Given the description of an element on the screen output the (x, y) to click on. 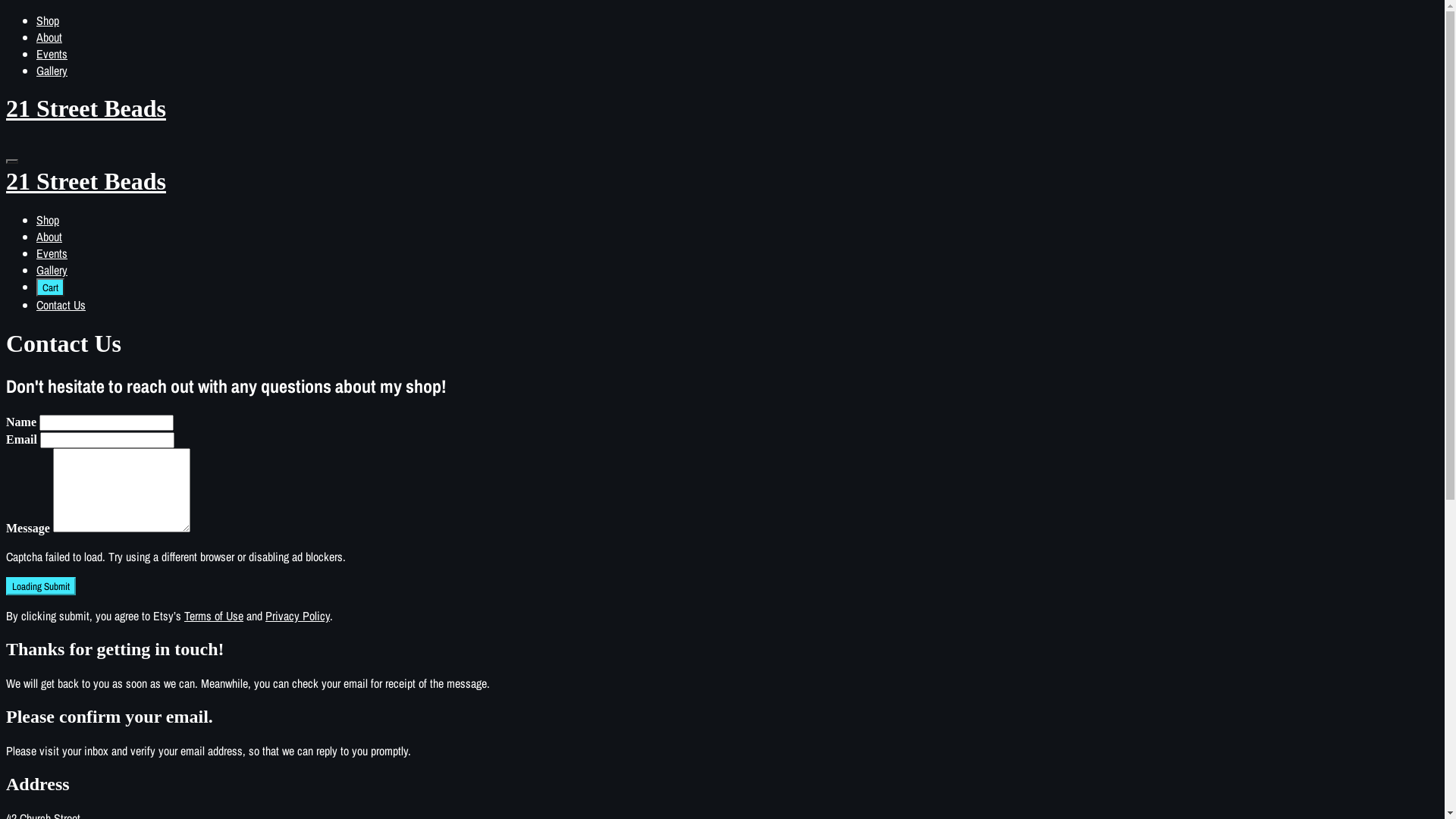
Events Element type: text (51, 252)
Terms of Use Element type: text (213, 615)
Loading Submit Element type: text (40, 586)
Contact Us Element type: text (60, 304)
About Element type: text (49, 36)
21 Street Beads Element type: text (722, 108)
Cart Element type: text (50, 287)
Shop Element type: text (47, 20)
Privacy Policy Element type: text (297, 615)
Shop Element type: text (47, 219)
About Element type: text (49, 236)
Gallery Element type: text (51, 269)
Events Element type: text (51, 53)
21 Street Beads Element type: text (722, 195)
Gallery Element type: text (51, 70)
